Given the description of an element on the screen output the (x, y) to click on. 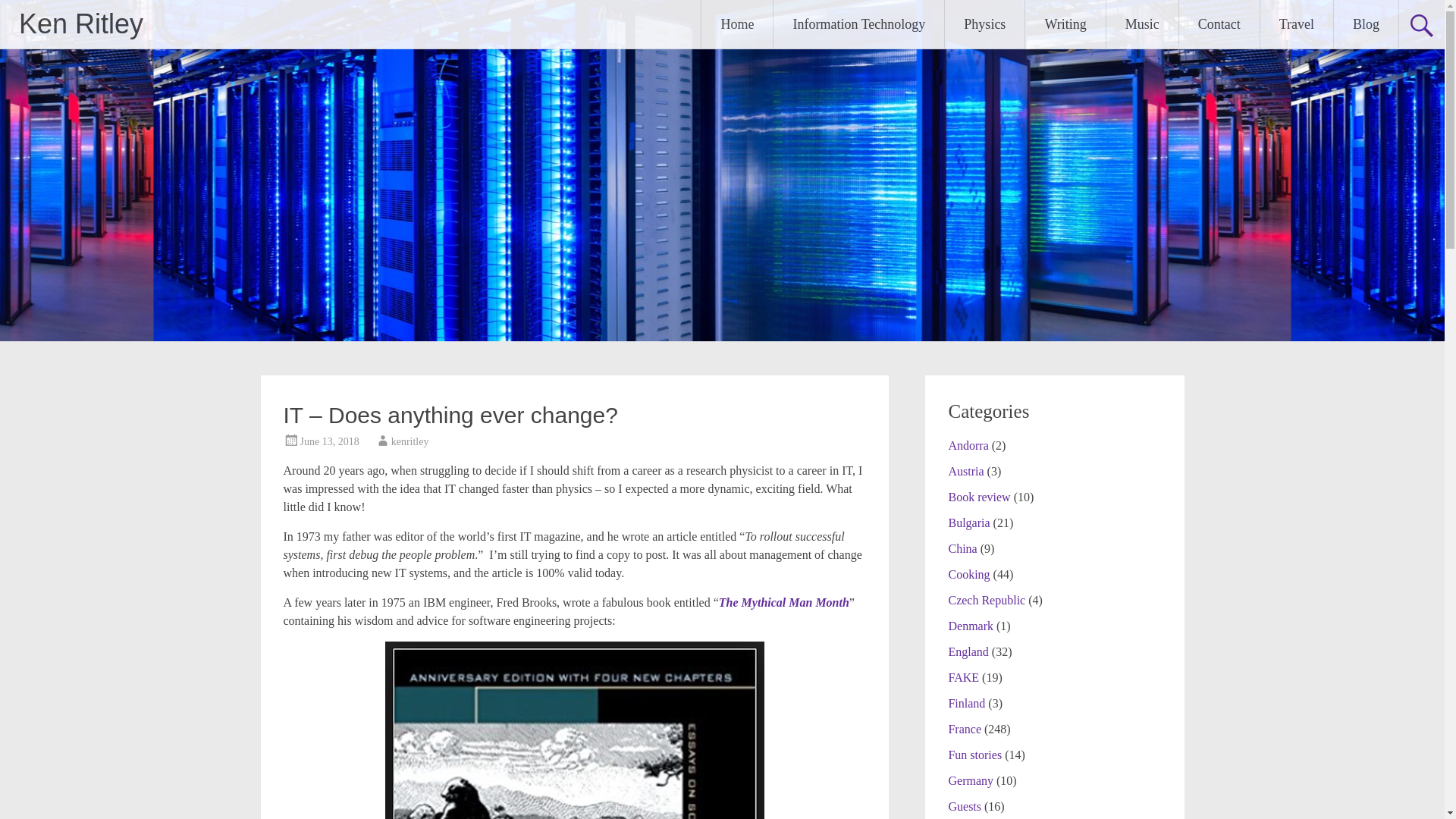
Information Technology (858, 24)
Physics (984, 24)
Ken Ritley (80, 23)
Ken Ritley (80, 23)
Home (737, 24)
Writing (1065, 24)
